Given the description of an element on the screen output the (x, y) to click on. 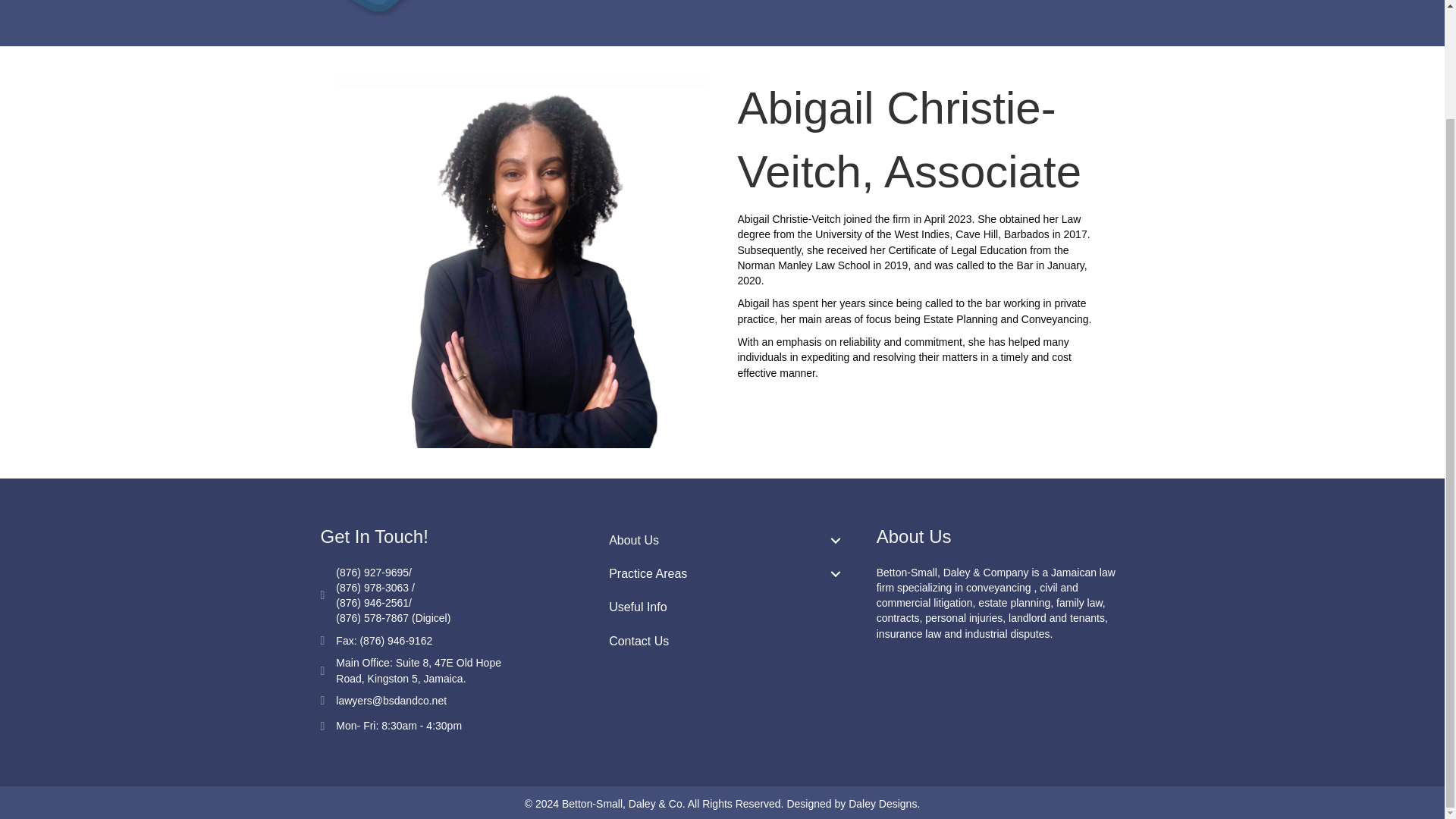
About Us (721, 540)
Useful Info (721, 606)
Contact Us (721, 640)
Daley Designs (882, 803)
Practice Areas (721, 573)
